Given the description of an element on the screen output the (x, y) to click on. 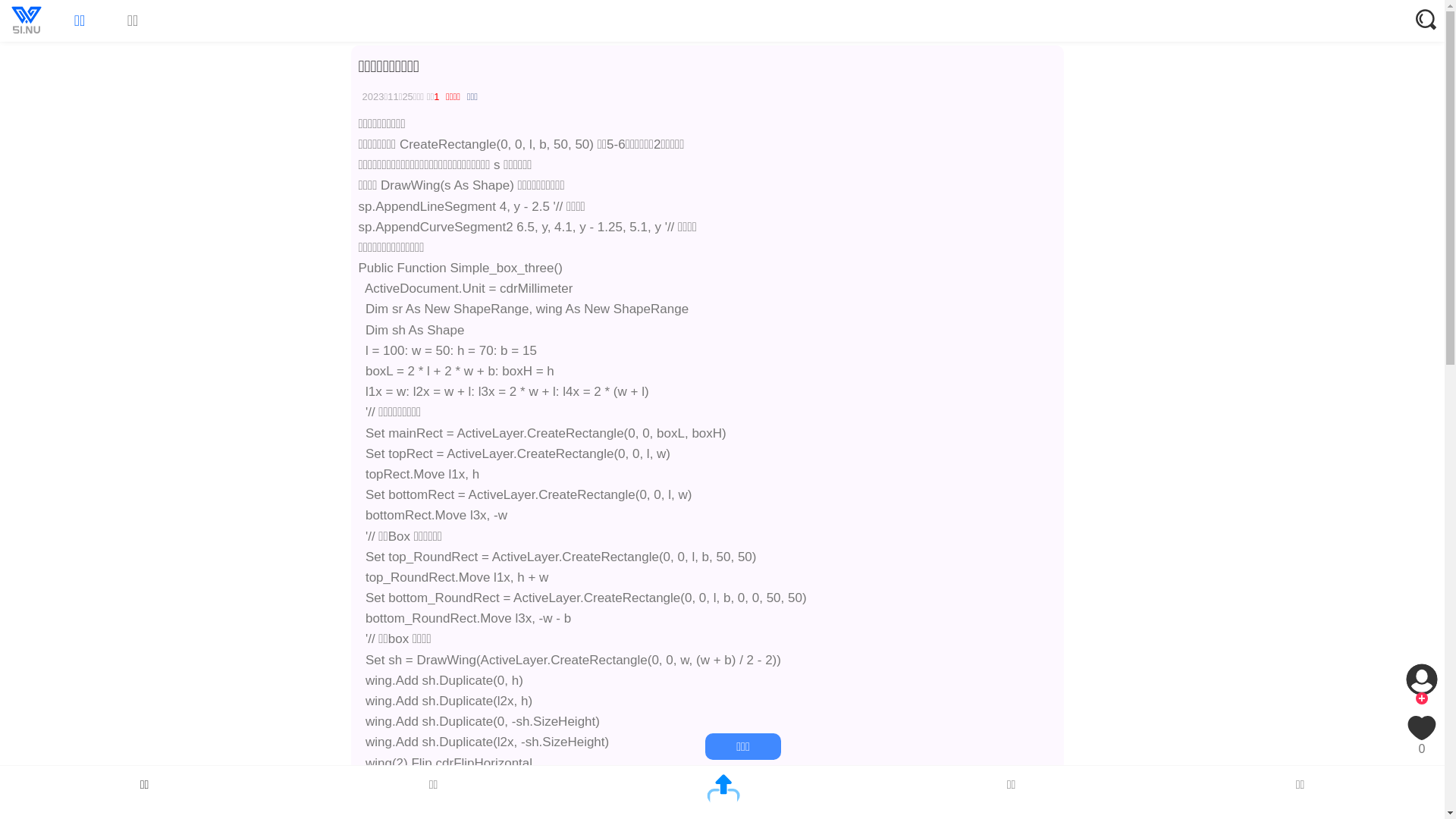
1 Element type: text (436, 96)
+ Element type: text (1421, 698)
0 Element type: text (1421, 734)
